Given the description of an element on the screen output the (x, y) to click on. 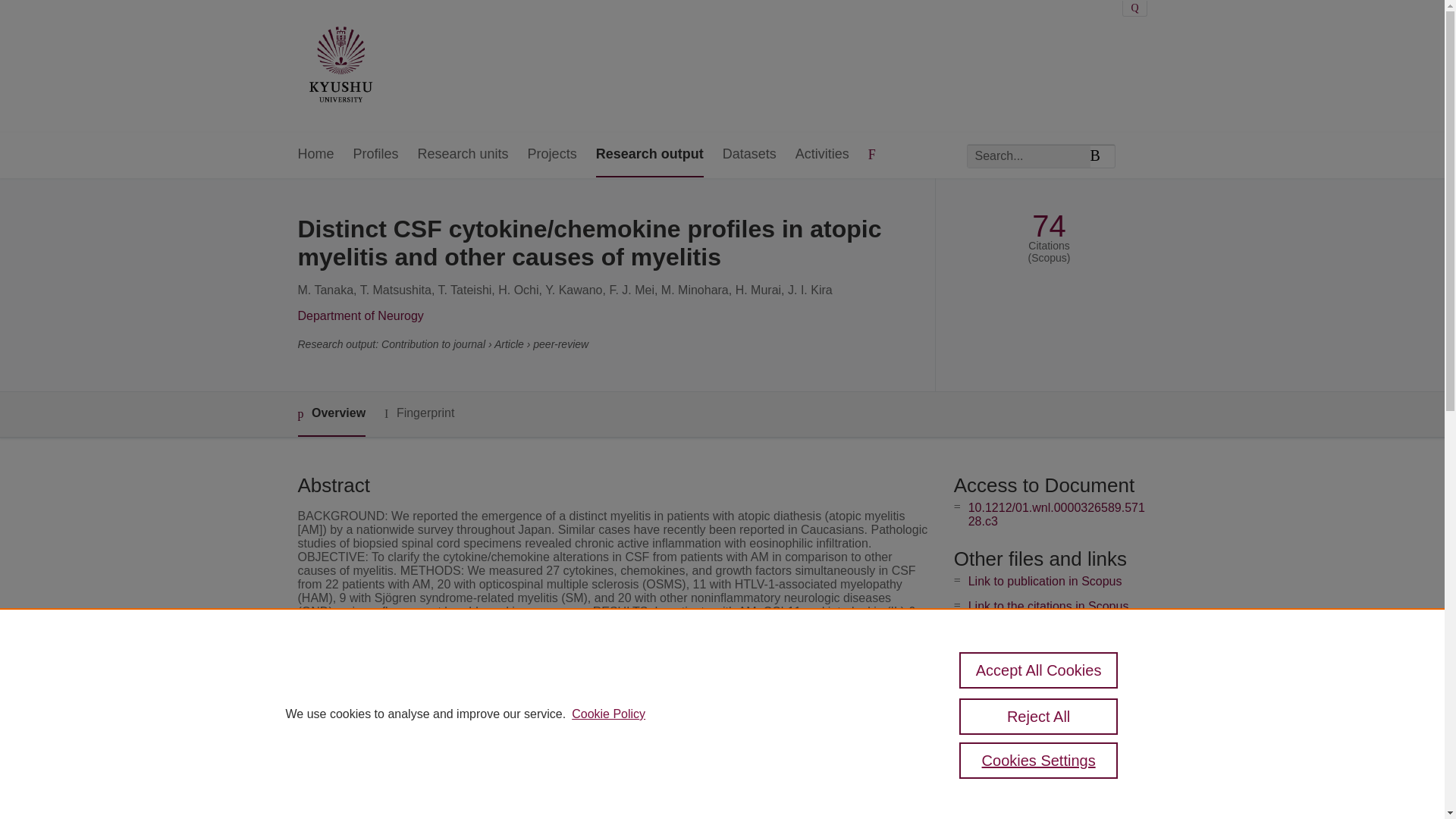
Projects (551, 154)
Fingerprint (419, 413)
Overview (331, 414)
Research output (649, 154)
74 (1048, 225)
Profiles (375, 154)
Department of Neurogy (360, 315)
Research units (462, 154)
Link to publication in Scopus (1045, 581)
Activities (821, 154)
Link to the citations in Scopus (1048, 605)
Datasets (749, 154)
